Given the description of an element on the screen output the (x, y) to click on. 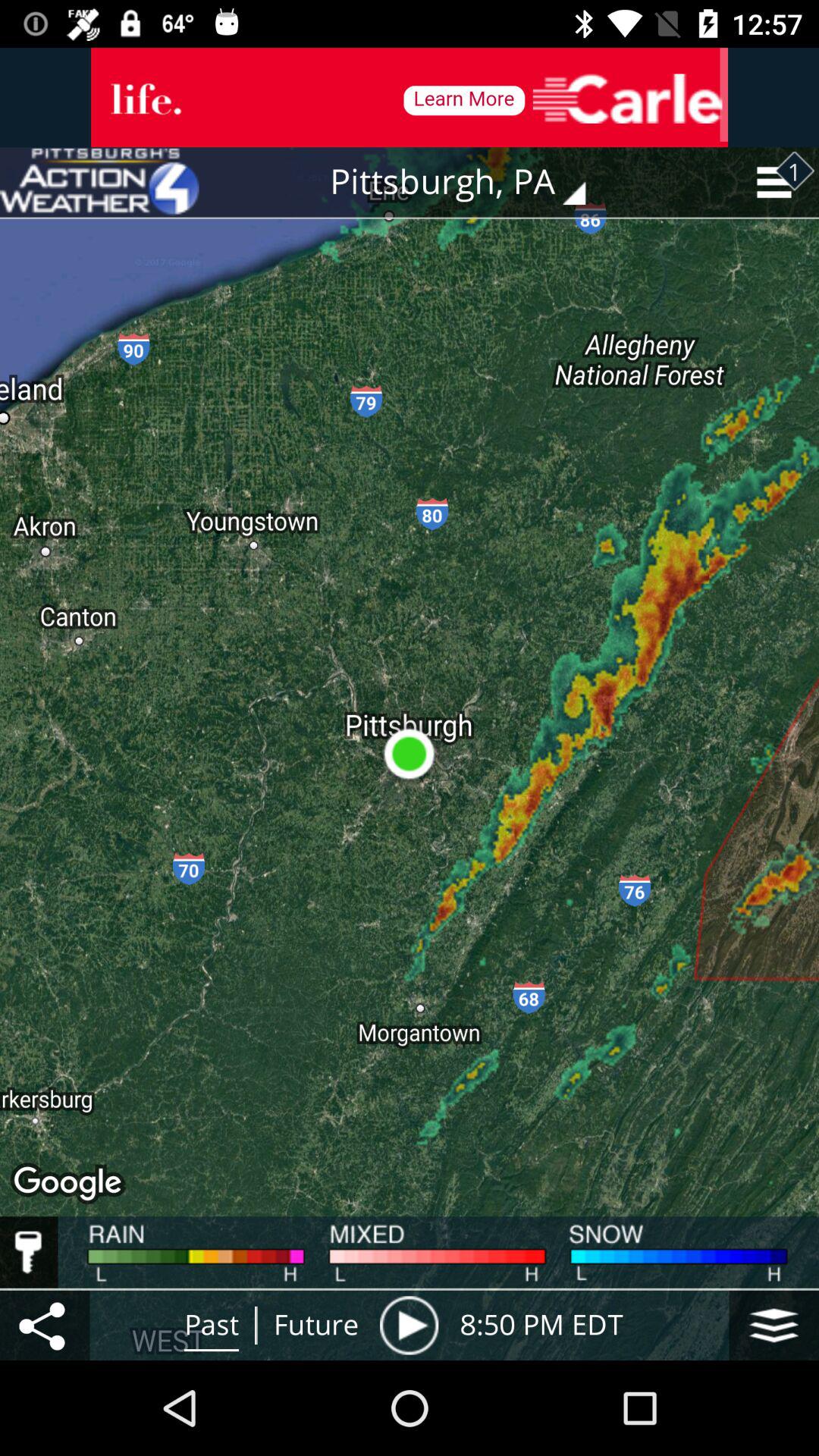
click icon to the left of the past icon (44, 1325)
